Given the description of an element on the screen output the (x, y) to click on. 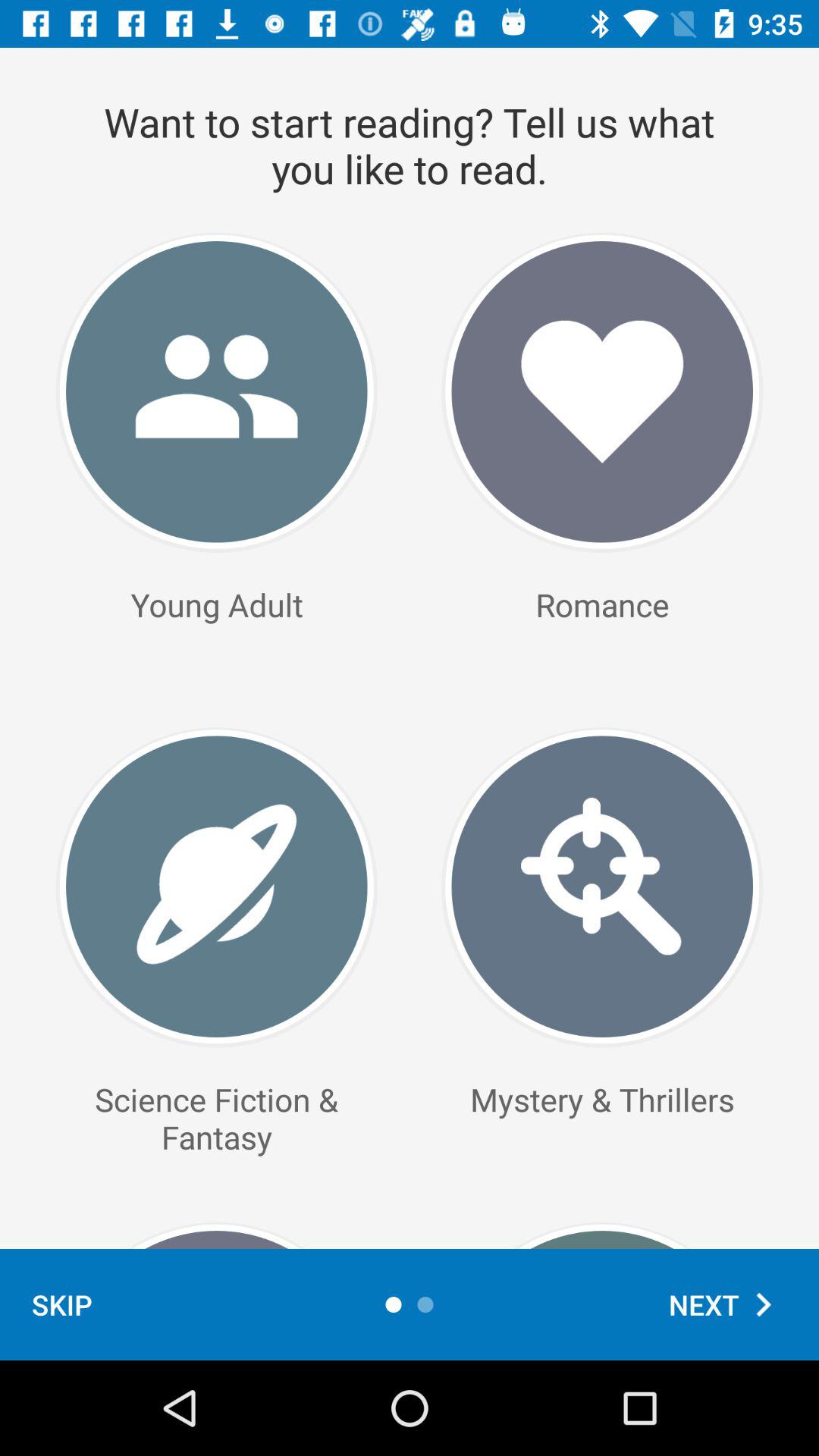
choose skip item (61, 1304)
